Given the description of an element on the screen output the (x, y) to click on. 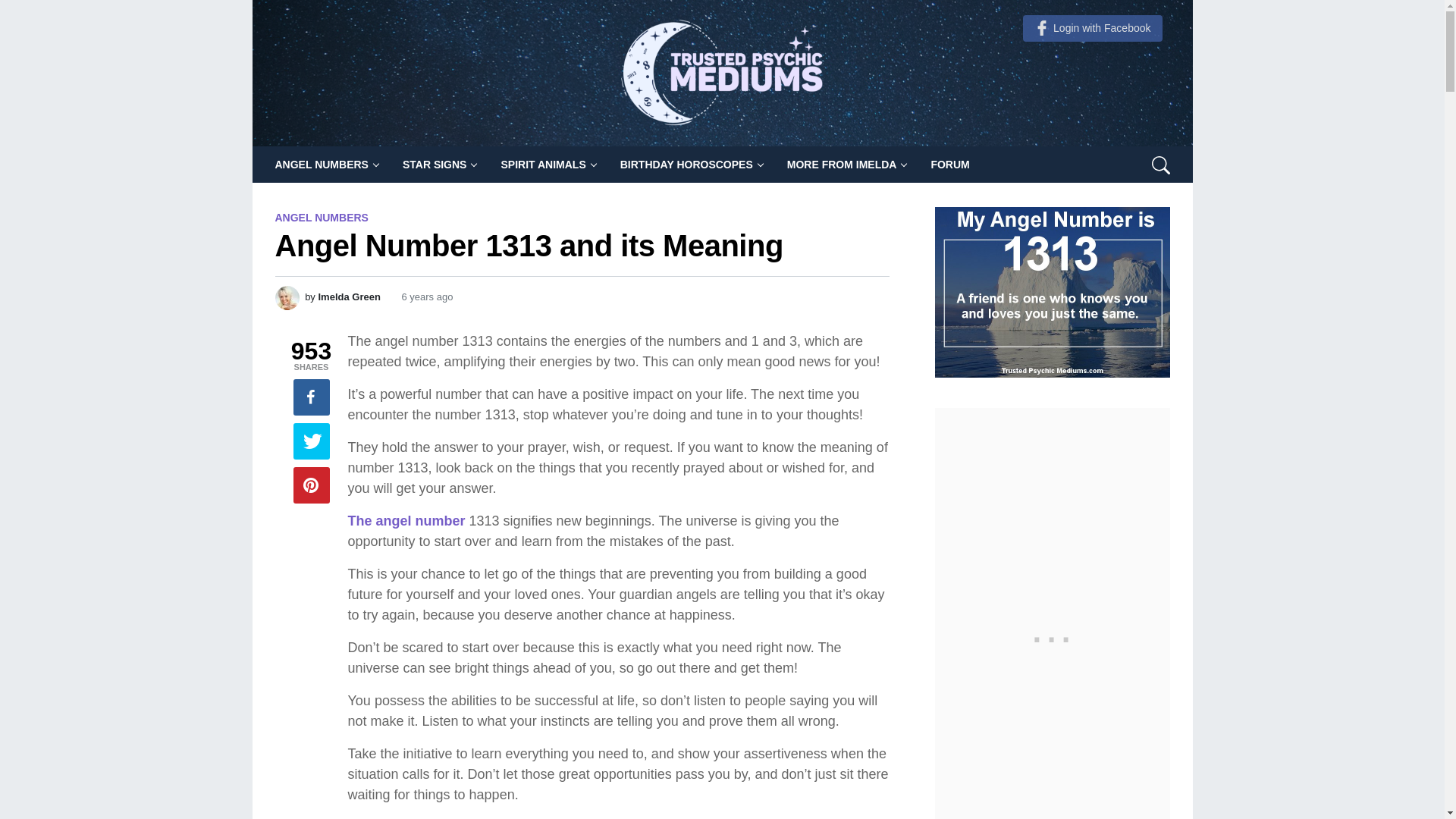
Angel Numbers (326, 164)
MORE FROM IMELDA (846, 164)
Star Signs (439, 164)
Login with Facebook (1092, 28)
SPIRIT ANIMALS (547, 164)
STAR SIGNS (439, 164)
ANGEL NUMBERS (326, 164)
BIRTHDAY HOROSCOPES (691, 164)
